Given the description of an element on the screen output the (x, y) to click on. 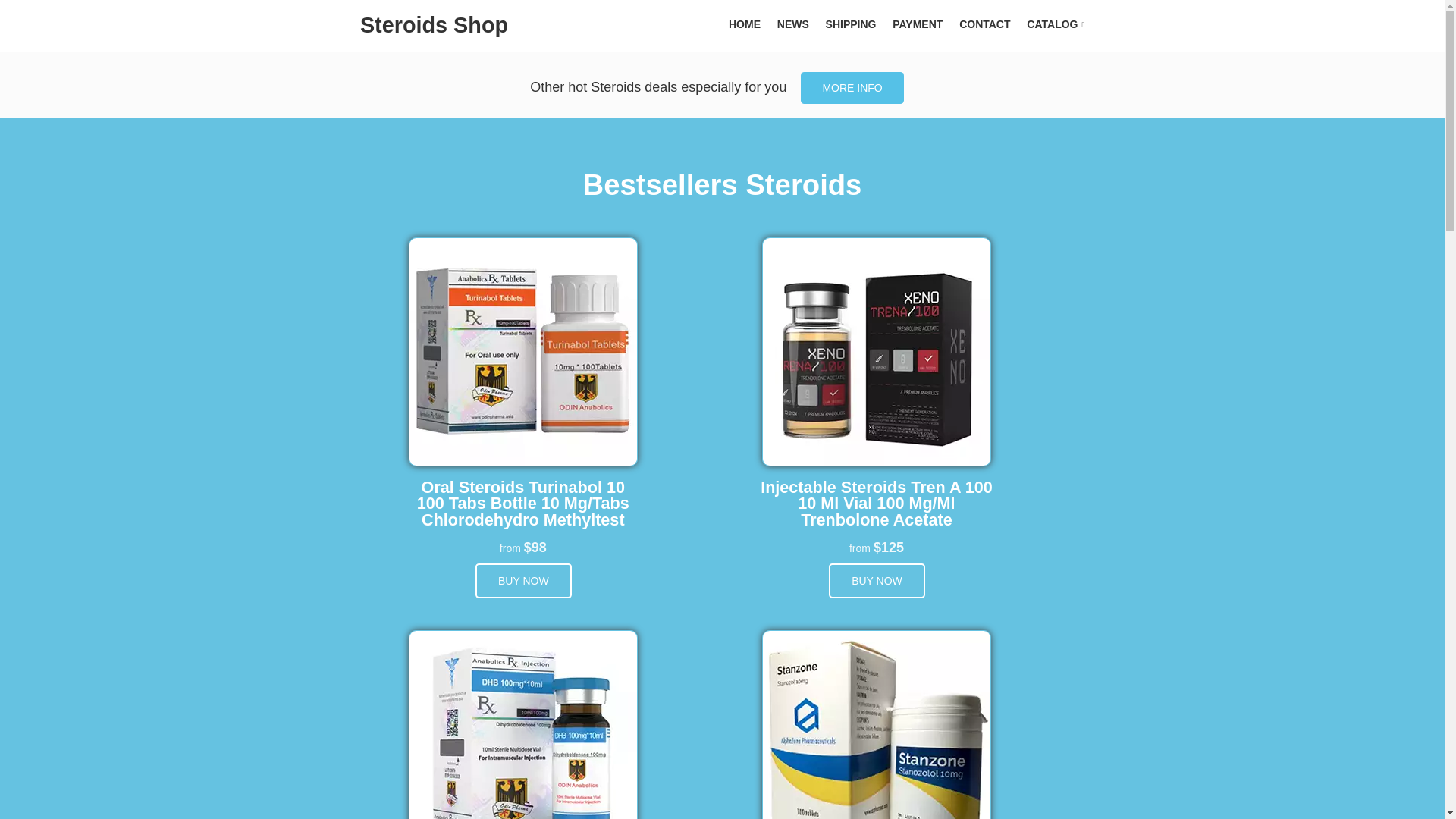
PAYMENT (917, 24)
BUY NOW (524, 580)
SHIPPING (850, 24)
CONTACT (984, 24)
MORE INFO (851, 88)
Steroids Shop (433, 24)
CATALOG (1055, 24)
HOME (744, 24)
NEWS (793, 24)
BUY NOW (876, 580)
